Given the description of an element on the screen output the (x, y) to click on. 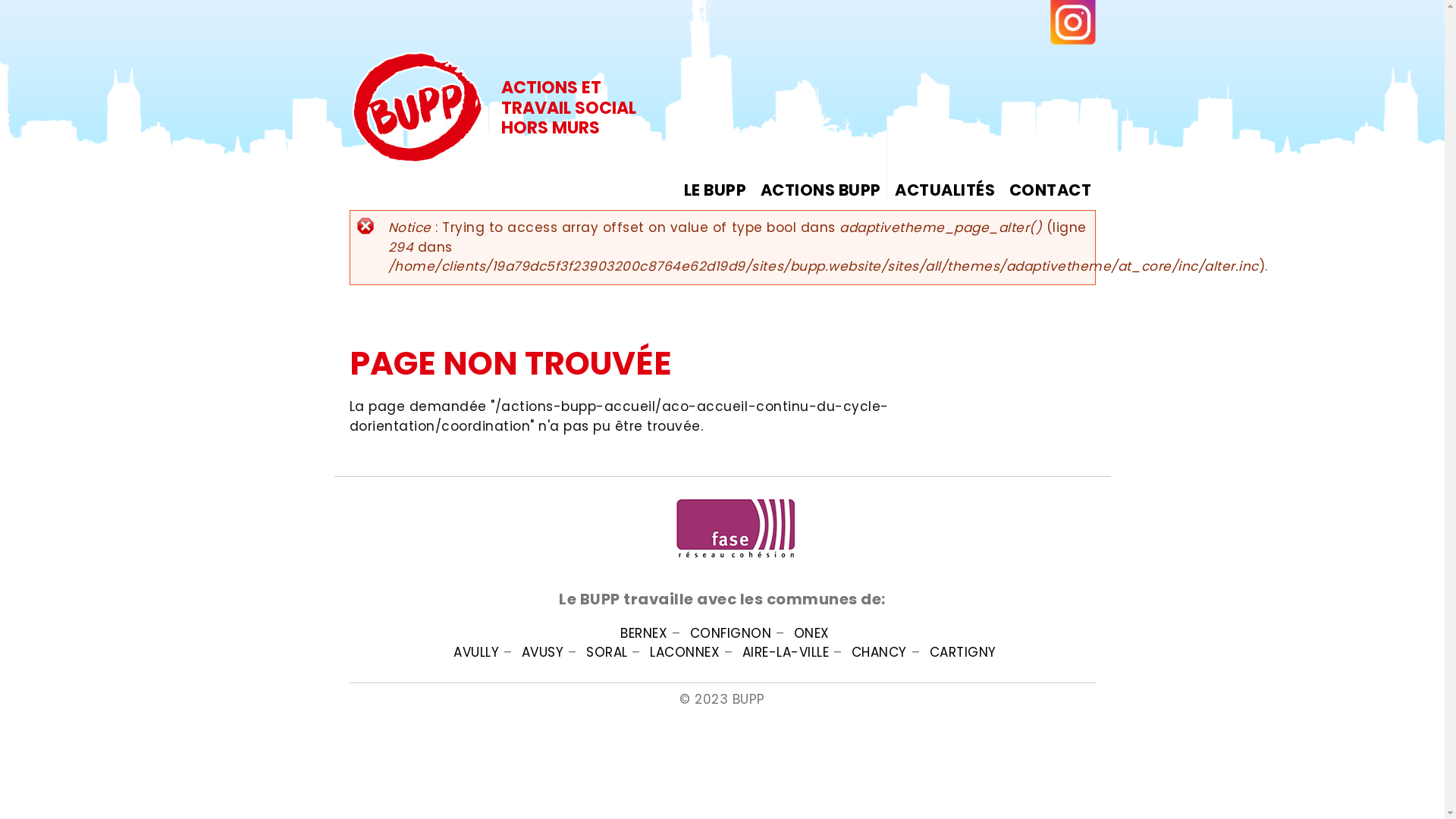
LACONNEX Element type: text (684, 652)
AIRE-LA-VILLE Element type: text (785, 652)
AVULLY Element type: text (475, 652)
BERNEX Element type: text (643, 633)
LE BUPP Element type: text (715, 189)
BUPP Element type: text (511, 166)
ONEX Element type: text (811, 633)
AVUSY Element type: text (542, 652)
CONTACT Element type: text (1050, 189)
CARTIGNY Element type: text (962, 652)
CONFIGNON Element type: text (730, 633)
ACTIONS BUPP Element type: text (820, 189)
SORAL Element type: text (606, 652)
CHANCY Element type: text (878, 652)
